Given the description of an element on the screen output the (x, y) to click on. 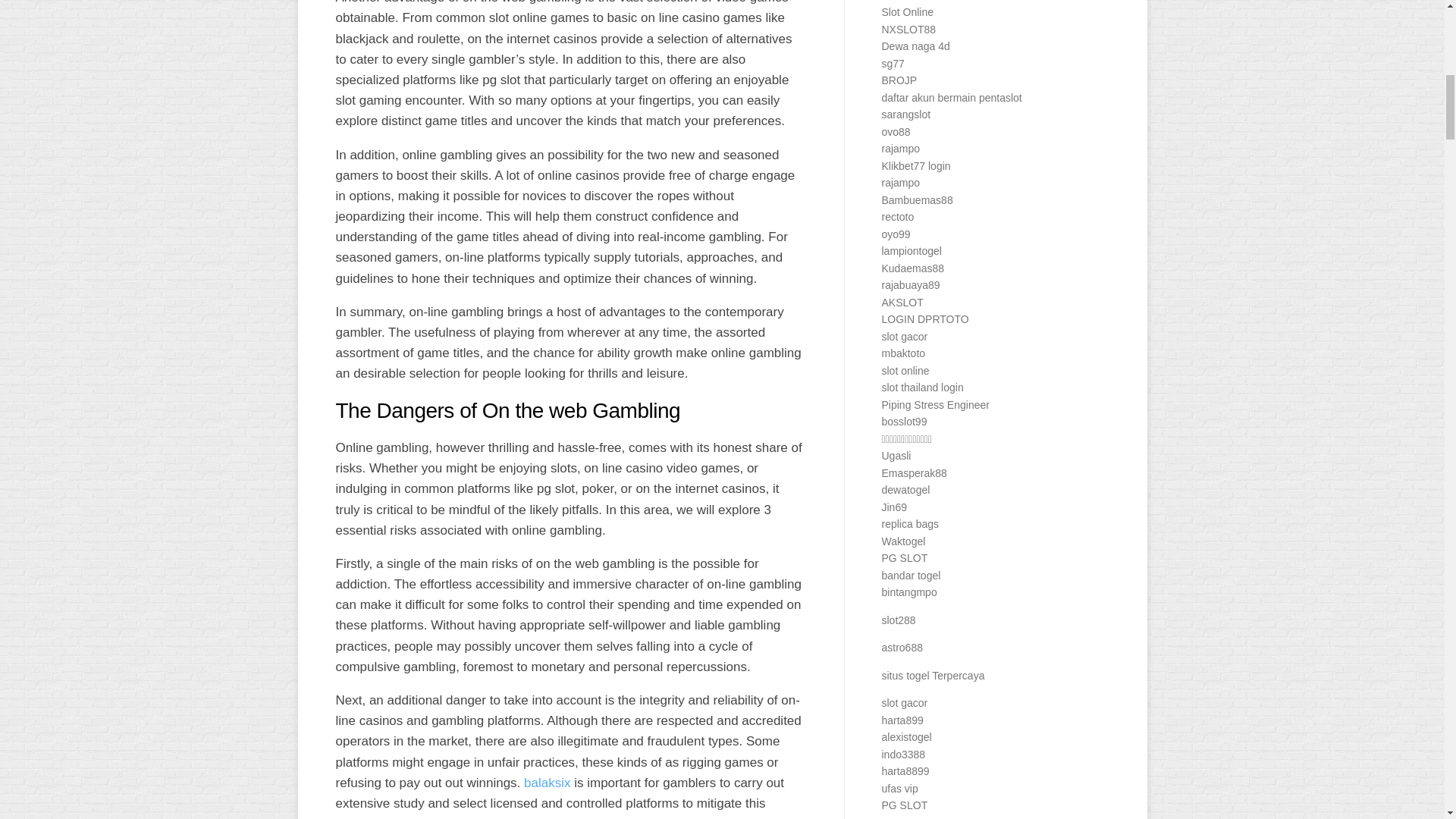
abowin88 (903, 0)
daftar akun bermain pentaslot (951, 96)
sg77 (892, 63)
Dewa naga 4d (914, 46)
NXSLOT88 (908, 28)
BROJP (898, 80)
Slot Online (906, 11)
sarangslot (905, 114)
balaksix (547, 782)
